Given the description of an element on the screen output the (x, y) to click on. 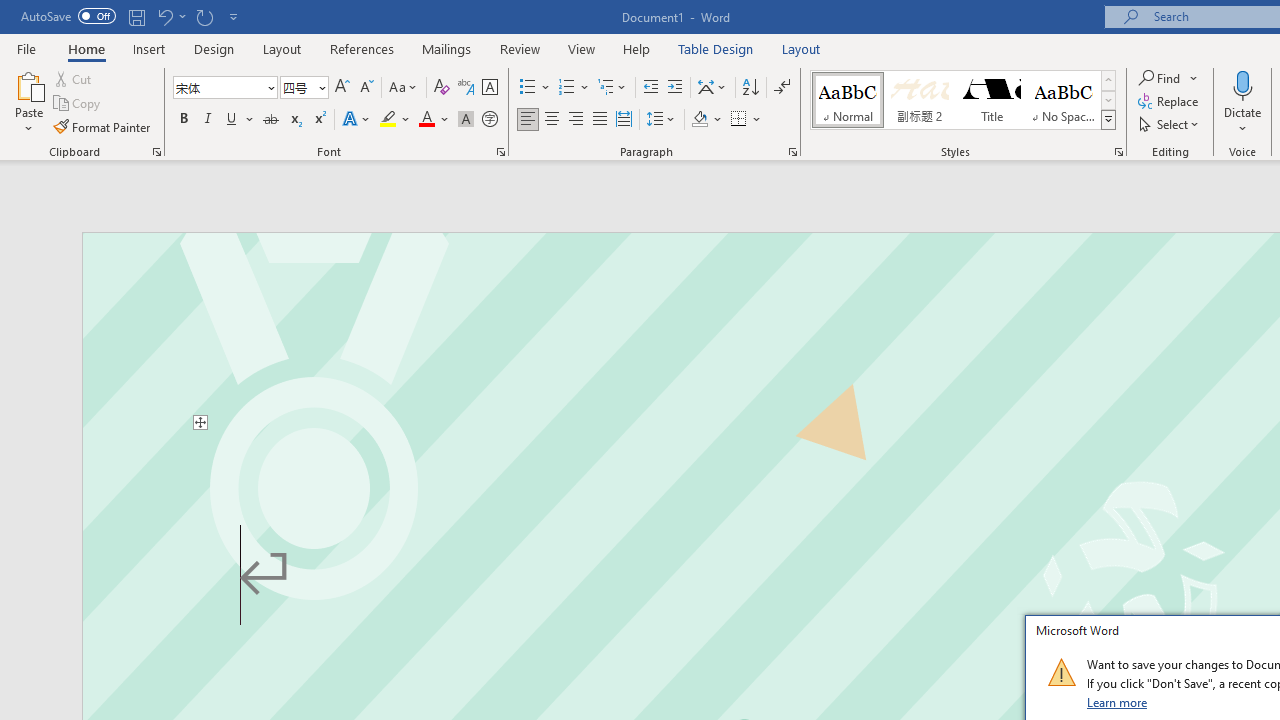
Replace... (1169, 101)
